Given the description of an element on the screen output the (x, y) to click on. 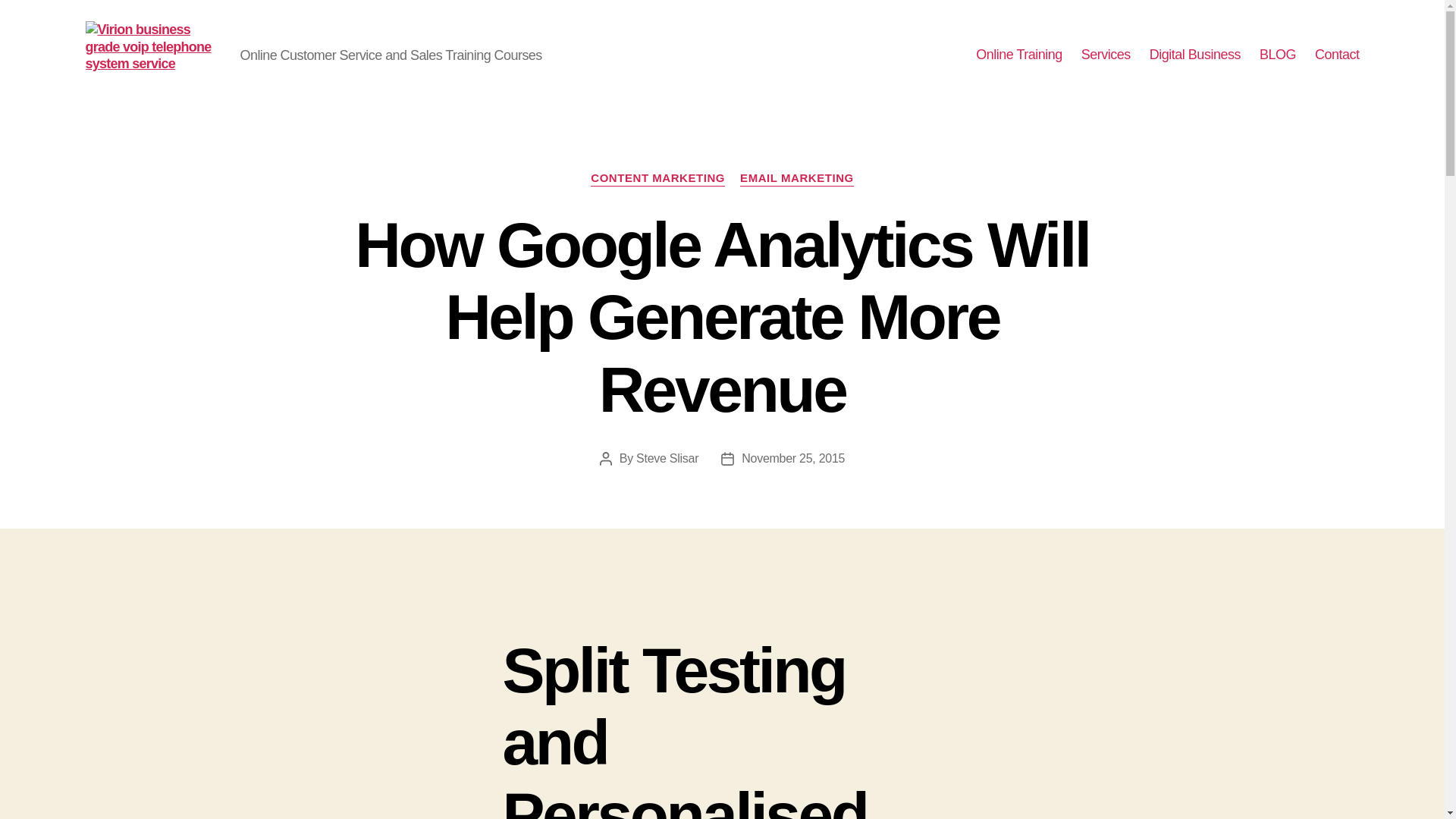
Digital Business (1195, 54)
BLOG (1277, 54)
EMAIL MARKETING (796, 178)
Contact (1336, 54)
Online Training (1018, 54)
Steve Slisar (667, 458)
CONTENT MARKETING (658, 178)
November 25, 2015 (792, 458)
Services (1106, 54)
